Given the description of an element on the screen output the (x, y) to click on. 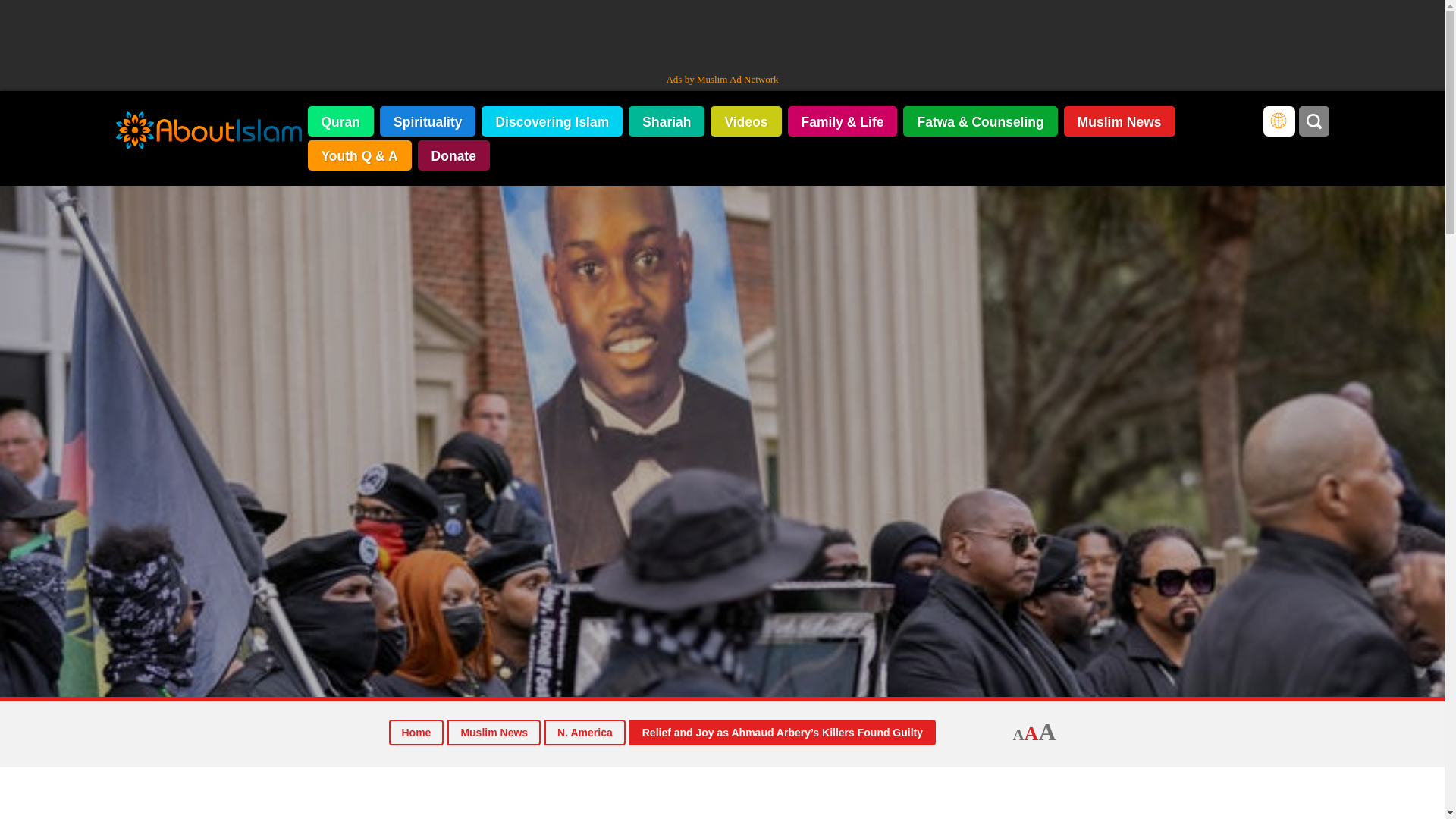
N. America (585, 732)
Search (1312, 121)
Ads by Muslim Ad Network (721, 79)
Muslim News (493, 732)
Shariah (666, 121)
Home (416, 732)
Spirituality (428, 121)
Muslim News (1119, 121)
Quran (340, 121)
Advertise and Market to Muslims (721, 79)
